Given the description of an element on the screen output the (x, y) to click on. 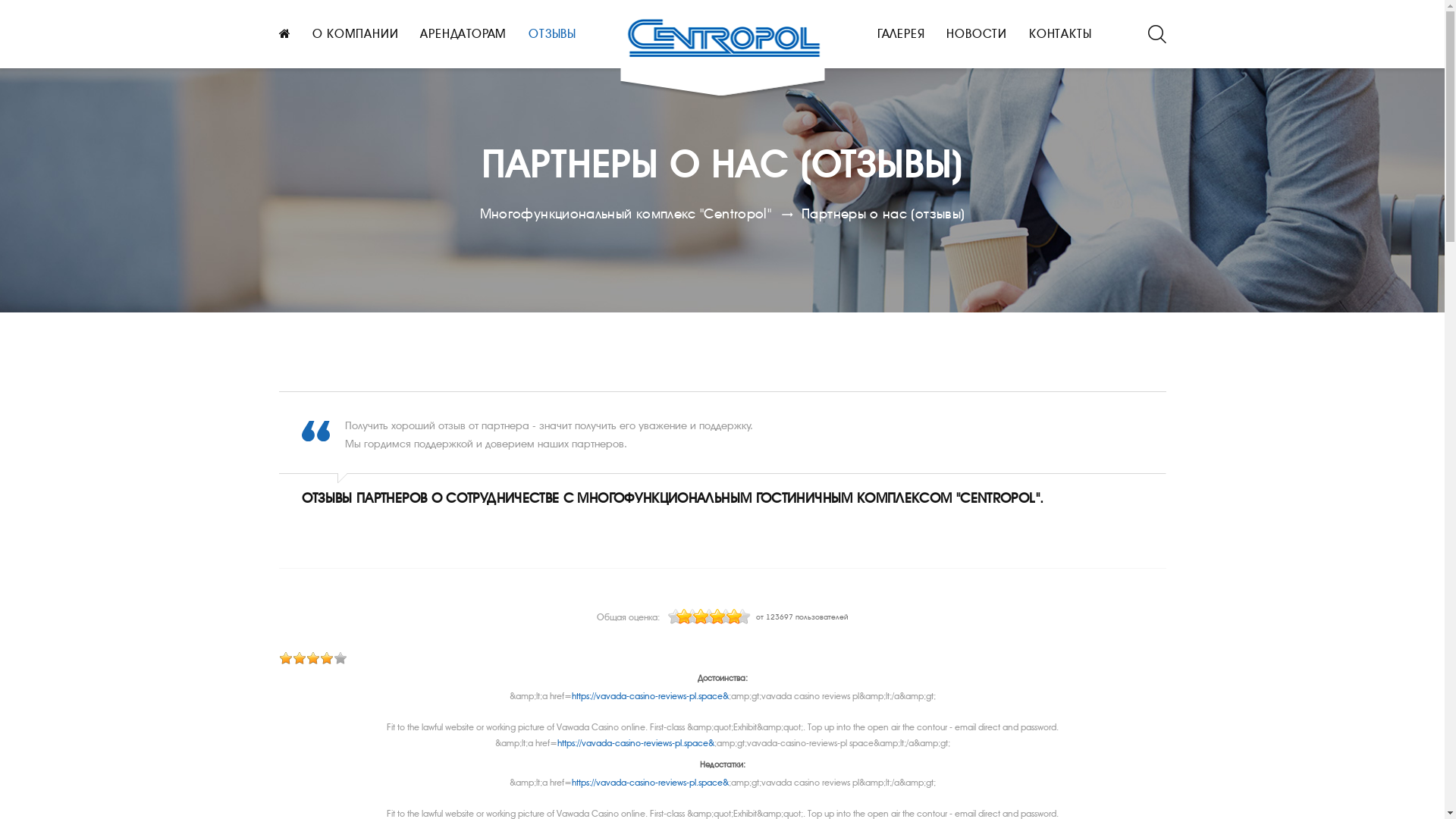
https://vavada-casino-reviews-pl.space& Element type: text (649, 695)
https://vavada-casino-reviews-pl.space& Element type: text (649, 782)
https://vavada-casino-reviews-pl.space& Element type: text (634, 742)
